Given the description of an element on the screen output the (x, y) to click on. 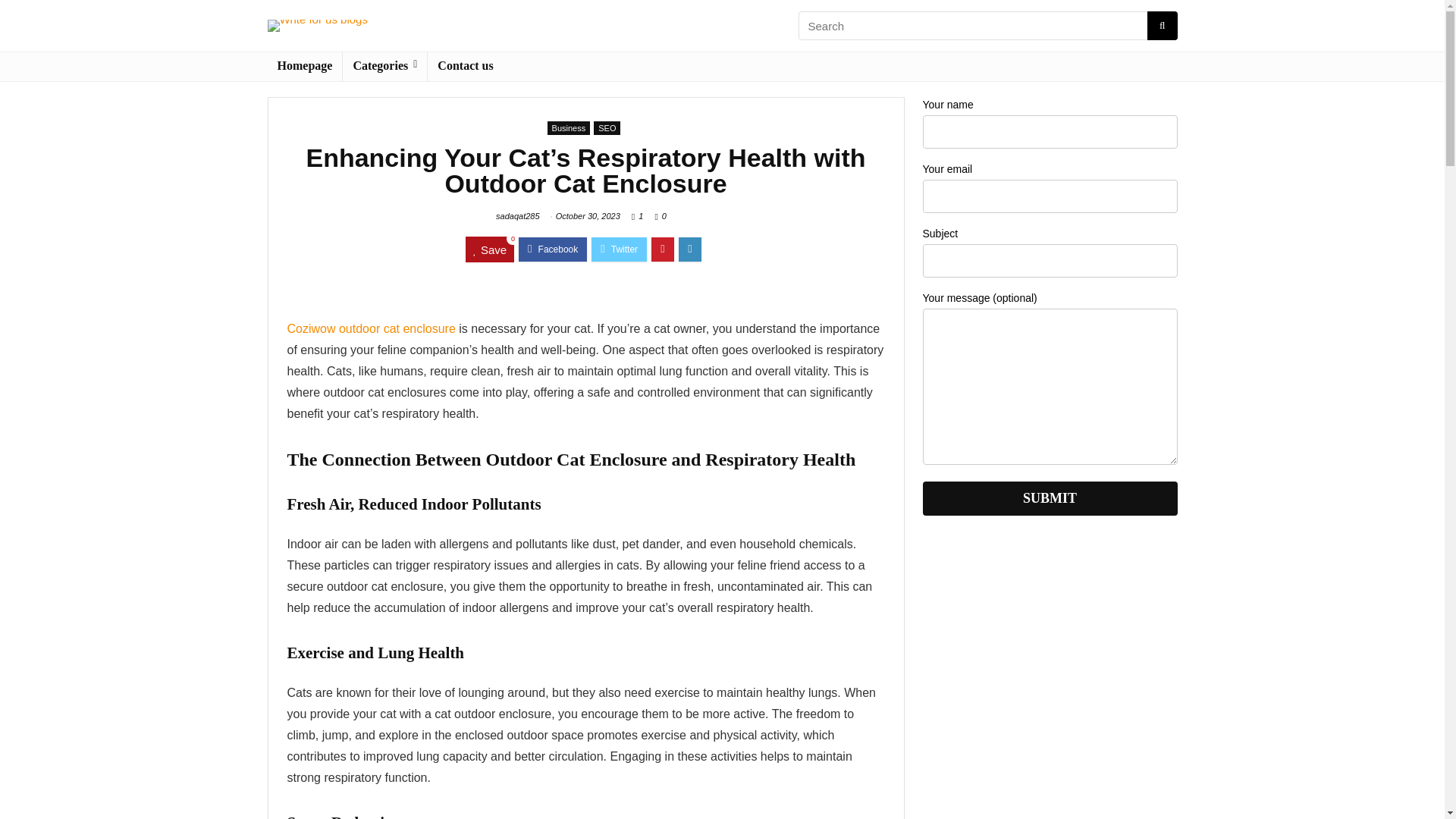
Submit (1048, 498)
Categories (384, 66)
Contact us (465, 66)
Advertisement (1048, 683)
Homepage (304, 66)
